Given the description of an element on the screen output the (x, y) to click on. 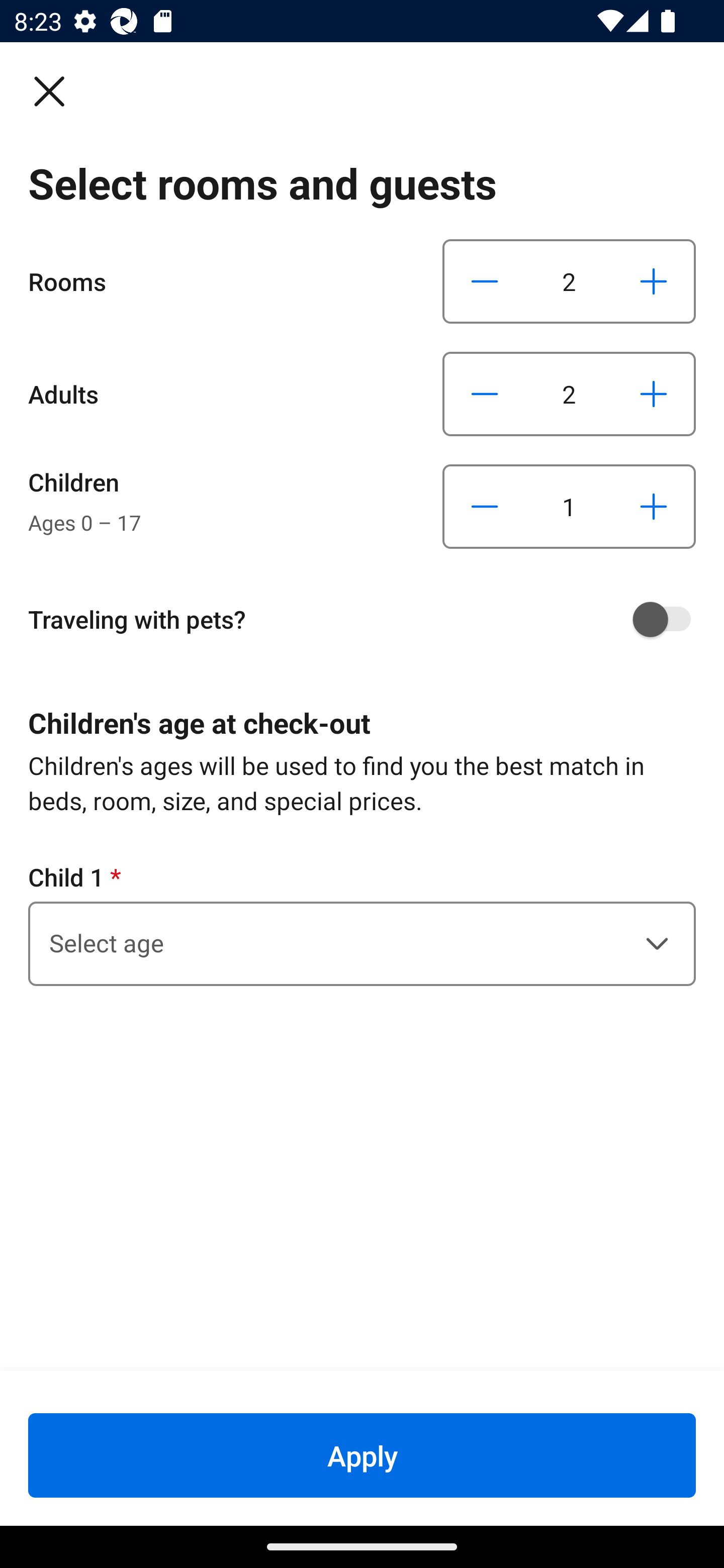
Decrease (484, 281)
Increase (653, 281)
Decrease (484, 393)
Increase (653, 393)
Decrease (484, 506)
Increase (653, 506)
Traveling with pets? (369, 619)
Child 1
required Child 1 * Select age (361, 922)
Apply (361, 1454)
